Given the description of an element on the screen output the (x, y) to click on. 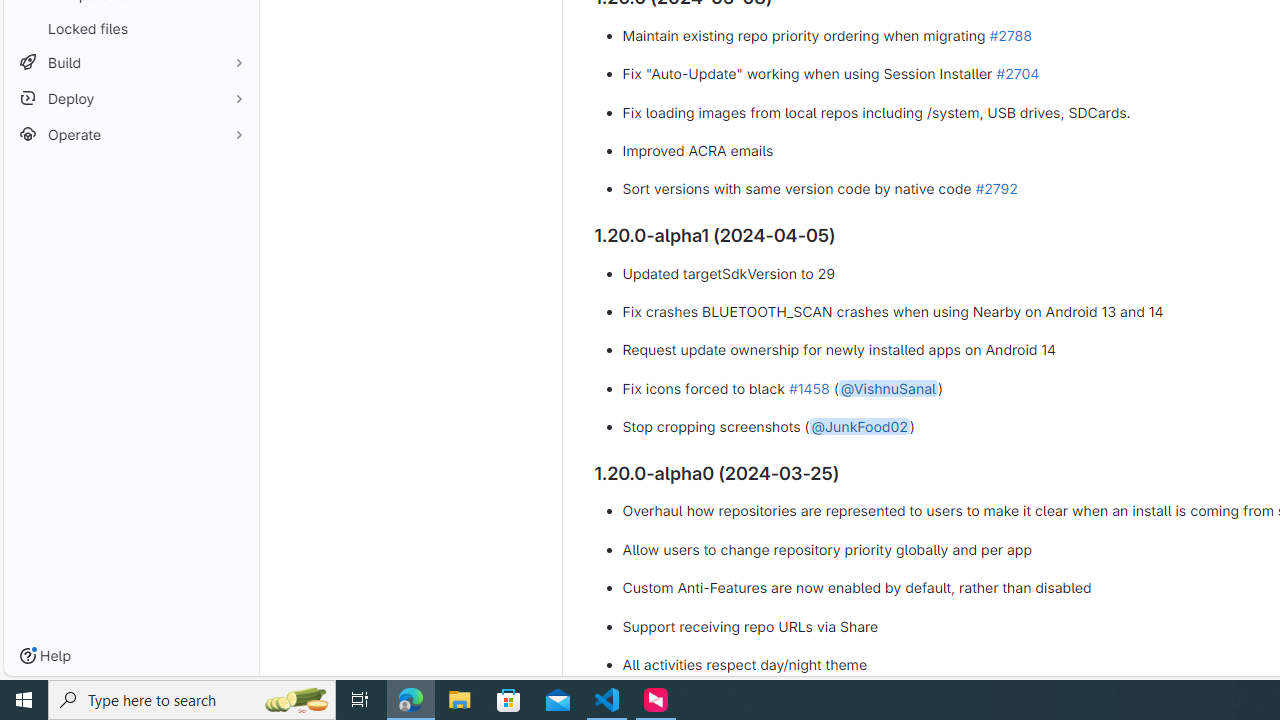
Operate (130, 134)
@JunkFood02 (859, 427)
#2788 (1010, 34)
#2792 (996, 189)
Locked files (130, 28)
Operate (130, 134)
Build (130, 62)
Deploy (130, 98)
@VishnuSanal (888, 387)
Locked files (130, 28)
Deploy (130, 98)
Build (130, 62)
#2704 (1017, 73)
Pin Locked files (234, 28)
